Given the description of an element on the screen output the (x, y) to click on. 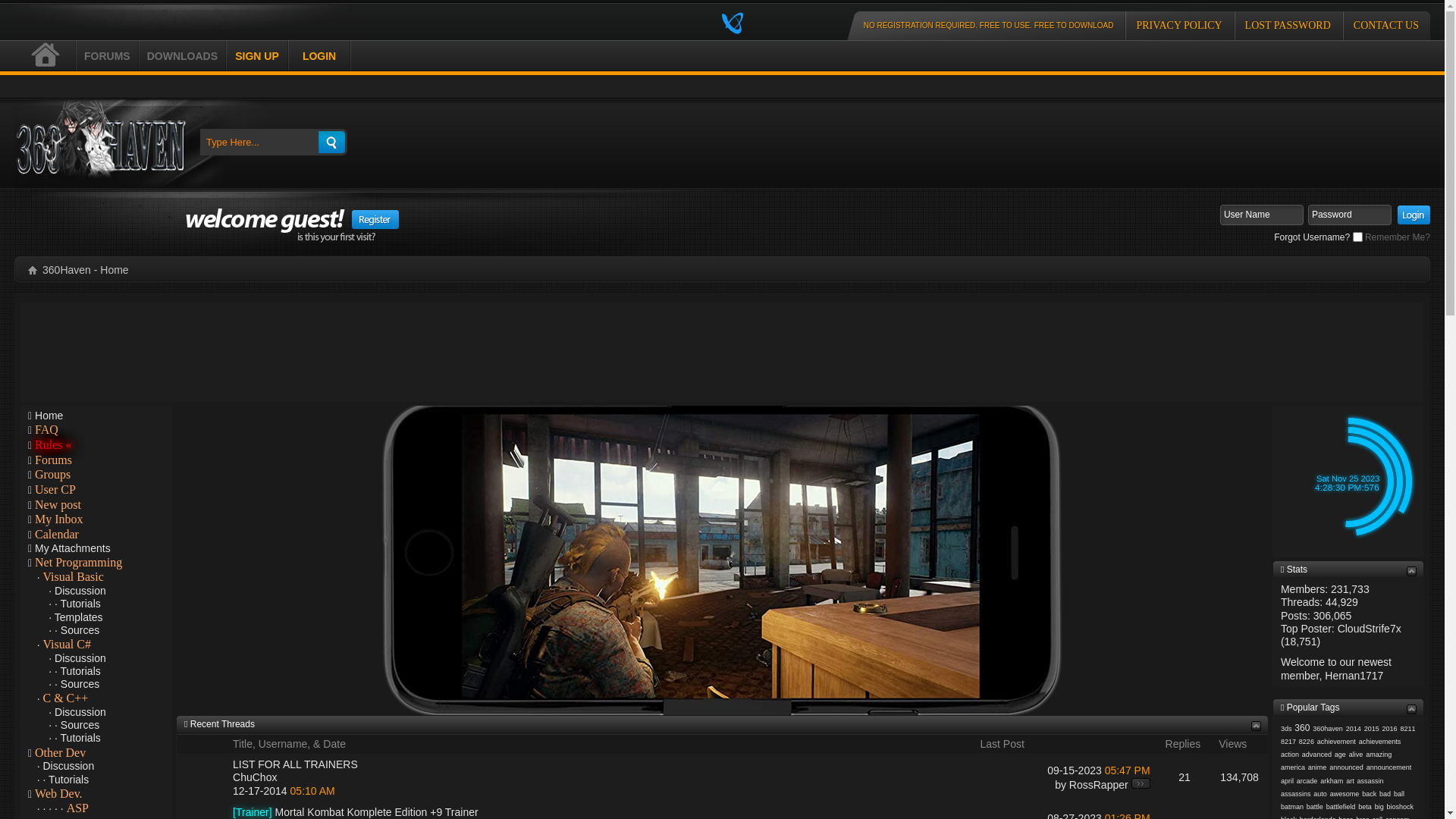
NO REGISTRATION REQUIRED. FREE TO USE. FREE TO DOWNLOAD Element type: text (992, 25)
Hernan1717 Element type: text (1353, 675)
360Haven Element type: hover (99, 143)
action Element type: text (1289, 754)
FORUMS Element type: text (107, 55)
My Inbox Element type: text (58, 519)
america Element type: text (1292, 767)
SIGN UP Element type: text (256, 55)
awesome Element type: text (1344, 793)
april Element type: text (1286, 780)
Forgot Username? Element type: text (1311, 237)
announcement Element type: text (1389, 767)
LIST FOR ALL TRAINERS Element type: text (294, 764)
bad Element type: text (1384, 793)
advanced Element type: text (1316, 754)
Loading Element type: hover (733, 22)
Discussion Element type: text (80, 712)
360 Element type: text (1301, 727)
DOWNLOADS Element type: text (182, 55)
battle Element type: text (1314, 806)
beta Element type: text (1364, 806)
bioshock Element type: text (1400, 806)
age Element type: text (1340, 754)
User CP Element type: text (54, 489)
8211 Element type: text (1407, 728)
arkham Element type: text (1331, 780)
Other Dev Element type: text (59, 752)
anime Element type: text (1317, 767)
back Element type: text (1368, 793)
announced Element type: text (1346, 767)
Visual C# Element type: text (66, 644)
Discussion Element type: text (80, 590)
achievements Element type: text (1379, 741)
8226 Element type: text (1306, 741)
assassin Element type: text (1370, 780)
Discussion Element type: text (80, 658)
art Element type: text (1350, 780)
Popular Tags Element type: text (1312, 707)
alive Element type: text (1356, 754)
batman Element type: text (1291, 806)
RossRapper Element type: text (1098, 784)
2016 Element type: text (1389, 728)
Visual Basic Element type: text (72, 577)
360haven Element type: text (1327, 728)
Net Programming Element type: text (78, 562)
auto Element type: text (1320, 793)
arcade Element type: text (1306, 780)
LOST PASSWORD Element type: text (1287, 25)
Register Element type: hover (374, 219)
assassins Element type: text (1295, 793)
amazing Element type: text (1378, 754)
CloudStrife7x Element type: text (1369, 628)
LOGIN Element type: text (318, 55)
Go to last post Element type: hover (1140, 783)
2014 Element type: text (1353, 728)
New post Element type: text (57, 504)
Groups Element type: text (52, 474)
battlefield Element type: text (1340, 806)
C & C++ Element type: text (64, 698)
Web Dev. Element type: text (58, 793)
ChuChox Element type: text (254, 777)
Forums Element type: text (53, 460)
PRIVACY POLICY Element type: text (1178, 25)
Discussion Element type: text (68, 765)
Home Element type: text (48, 415)
big Element type: text (1378, 806)
Calendar Element type: text (56, 534)
8217 Element type: text (1287, 741)
achievement Element type: text (1336, 741)
Templates Element type: text (78, 617)
Home Element type: hover (32, 270)
2015 Element type: text (1371, 728)
CONTACT US Element type: text (1386, 25)
FAQ Element type: text (46, 429)
Mortal Kombat Komplete Edition +9 Trainer Element type: text (376, 812)
3ds Element type: text (1286, 728)
My Attachments Element type: text (72, 548)
ball Element type: text (1398, 793)
Advertisement Element type: hover (721, 342)
